Given the description of an element on the screen output the (x, y) to click on. 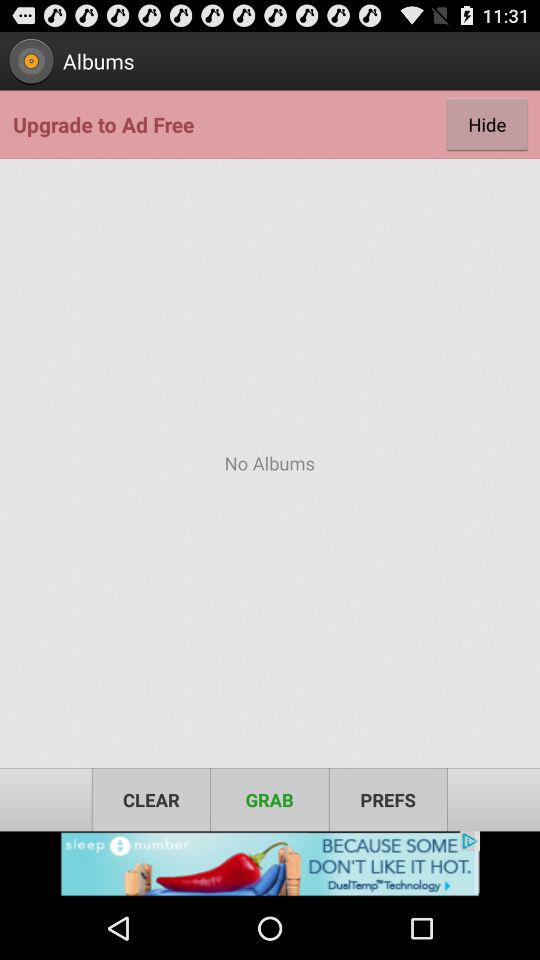
atts (270, 864)
